Given the description of an element on the screen output the (x, y) to click on. 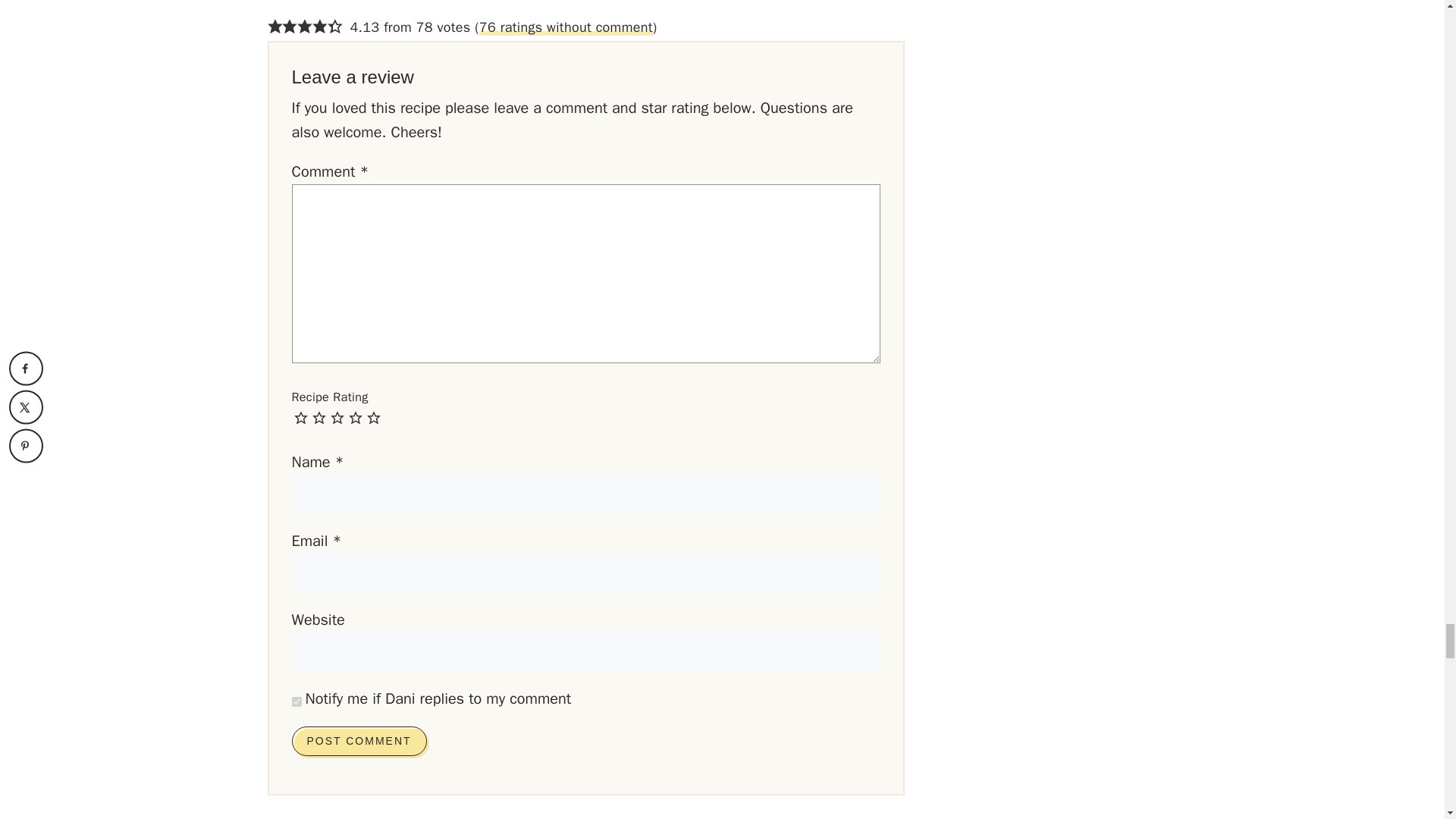
Post Comment (357, 740)
